Given the description of an element on the screen output the (x, y) to click on. 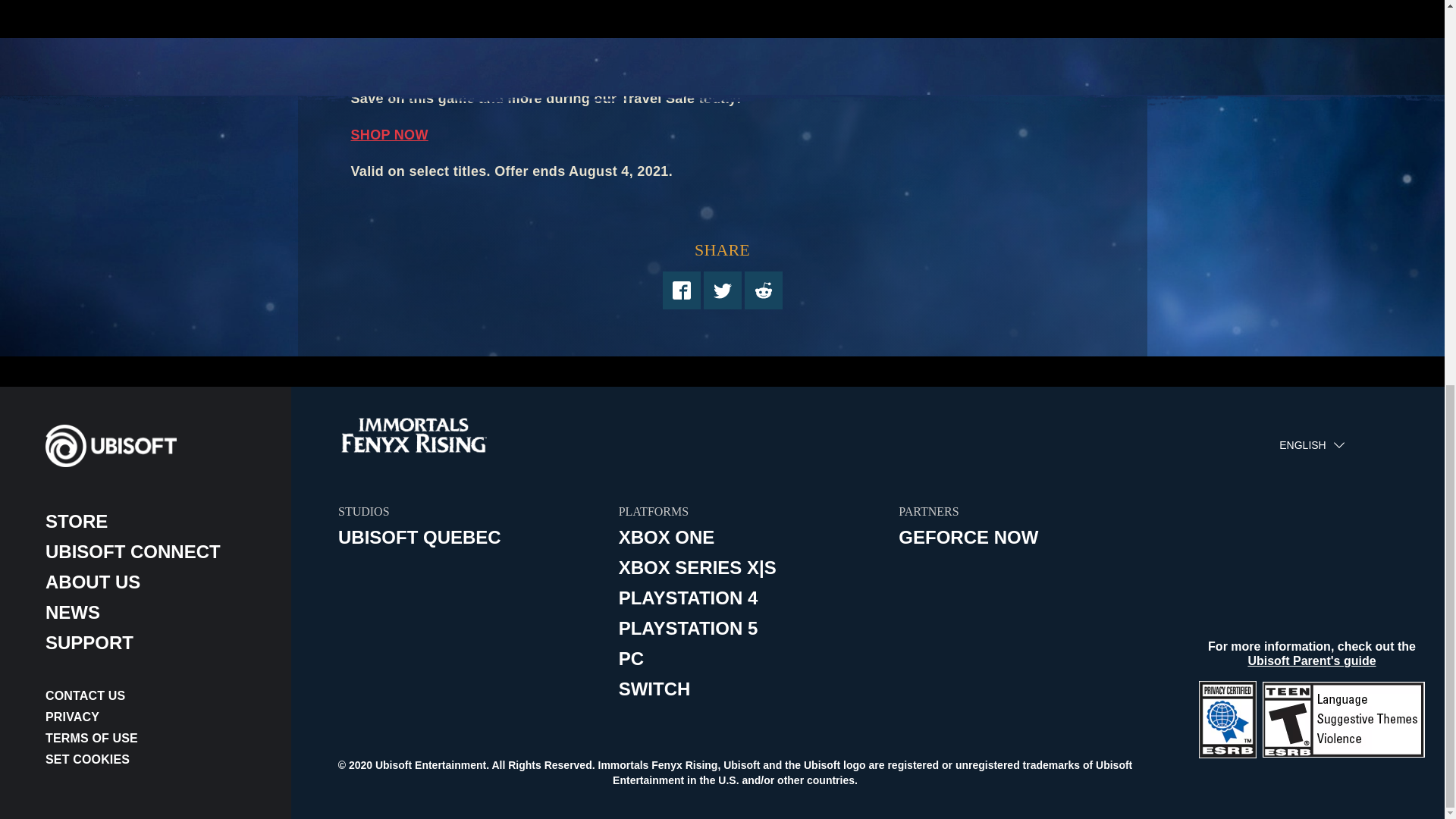
SWITCH (750, 688)
CONTACT US (154, 695)
UBISOFT QUEBEC (470, 537)
NEWS (154, 612)
PRIVACY (154, 717)
SET COOKIES (154, 759)
PLAYSTATION 5 (750, 628)
PLAYSTATION 4 (750, 598)
ABOUT US (154, 581)
SHOP NOW (389, 134)
